Given the description of an element on the screen output the (x, y) to click on. 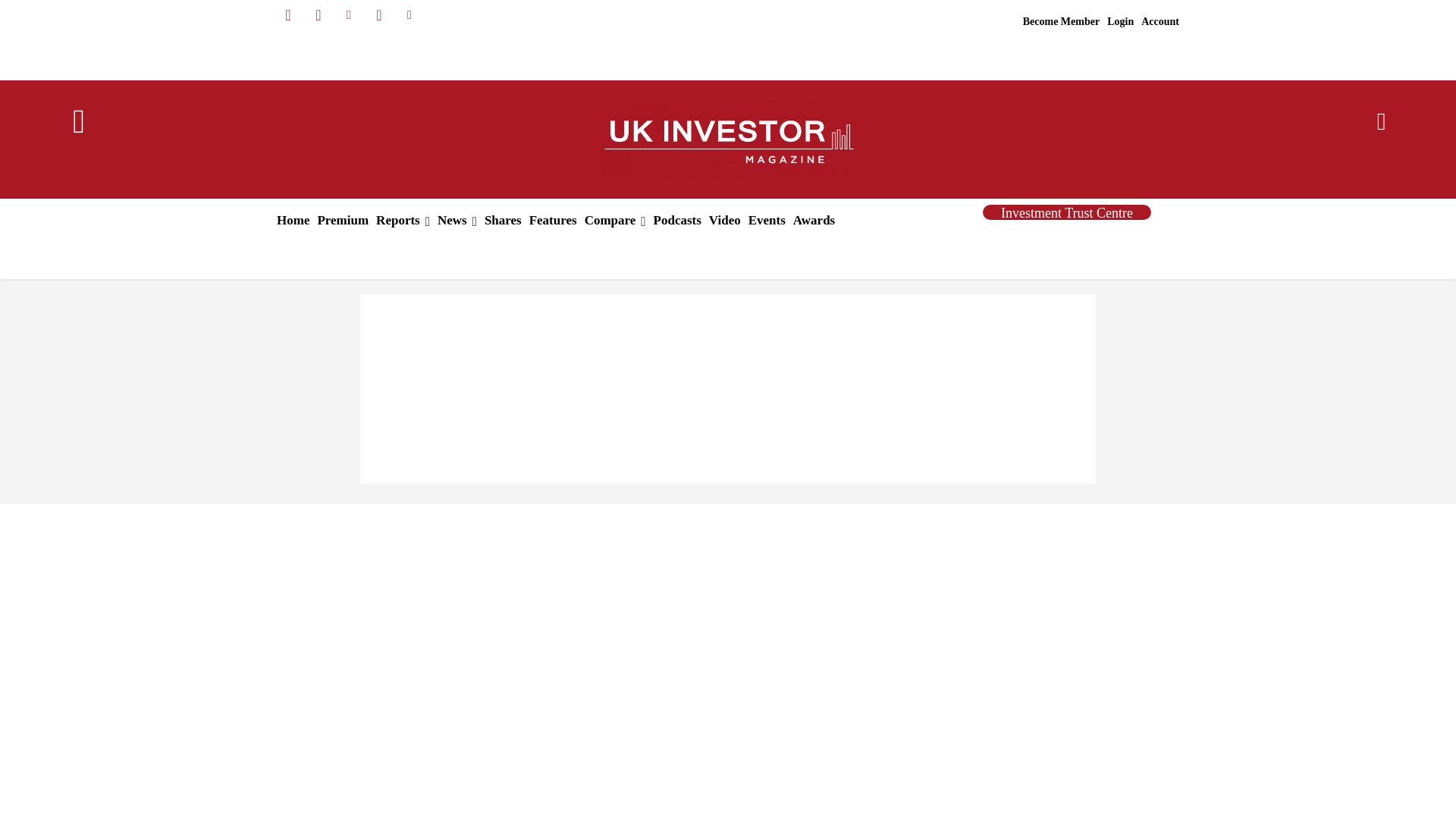
Premium (342, 220)
Instagram (317, 15)
Vimeo (409, 15)
Facebook (287, 15)
Reports (402, 220)
Account (1159, 22)
Linkedin (348, 15)
Become Member (1061, 22)
Twitter (379, 15)
Home (293, 220)
